Given the description of an element on the screen output the (x, y) to click on. 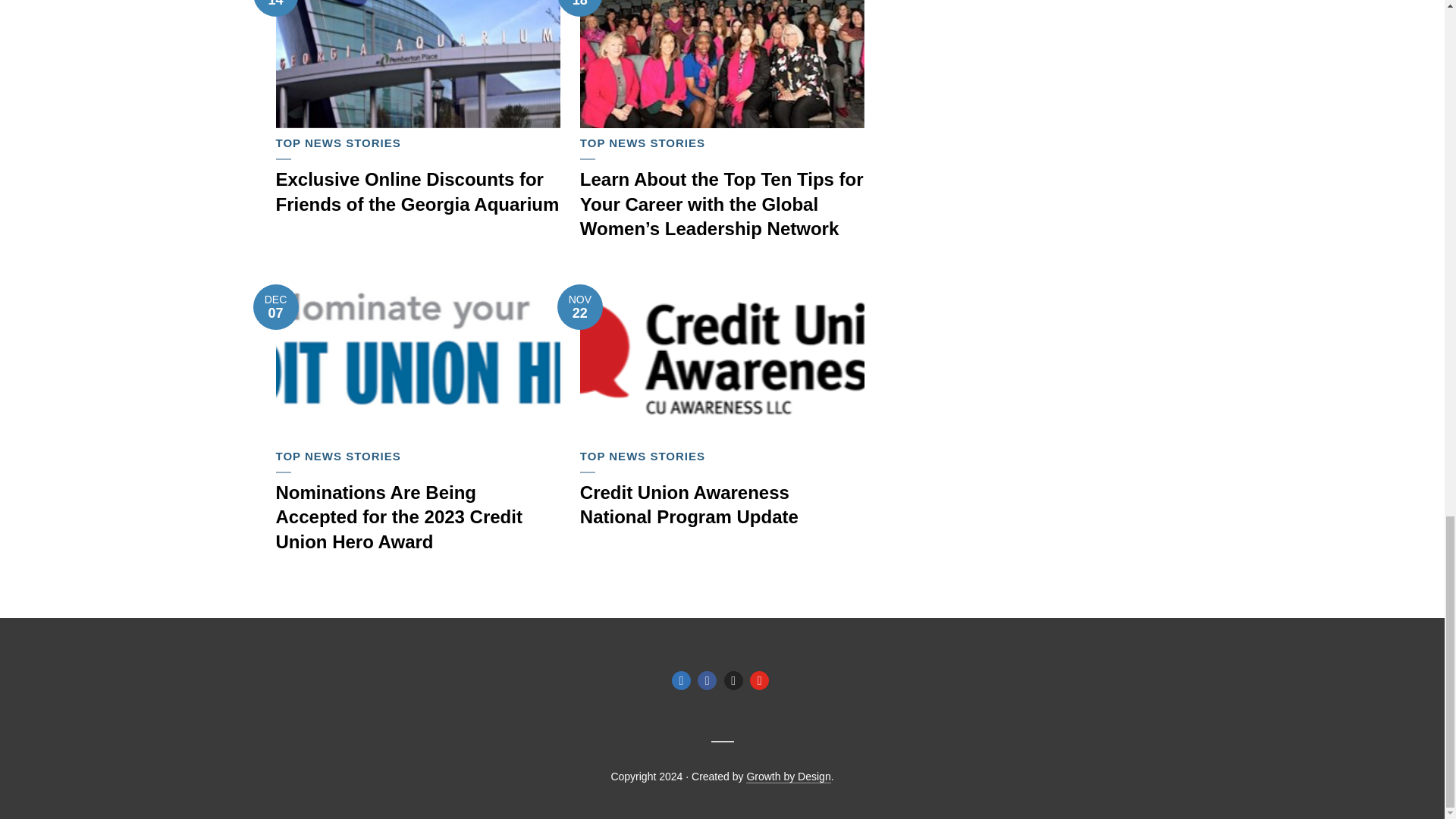
Linkedin (680, 680)
Facebook (706, 680)
YouTube (758, 680)
